Given the description of an element on the screen output the (x, y) to click on. 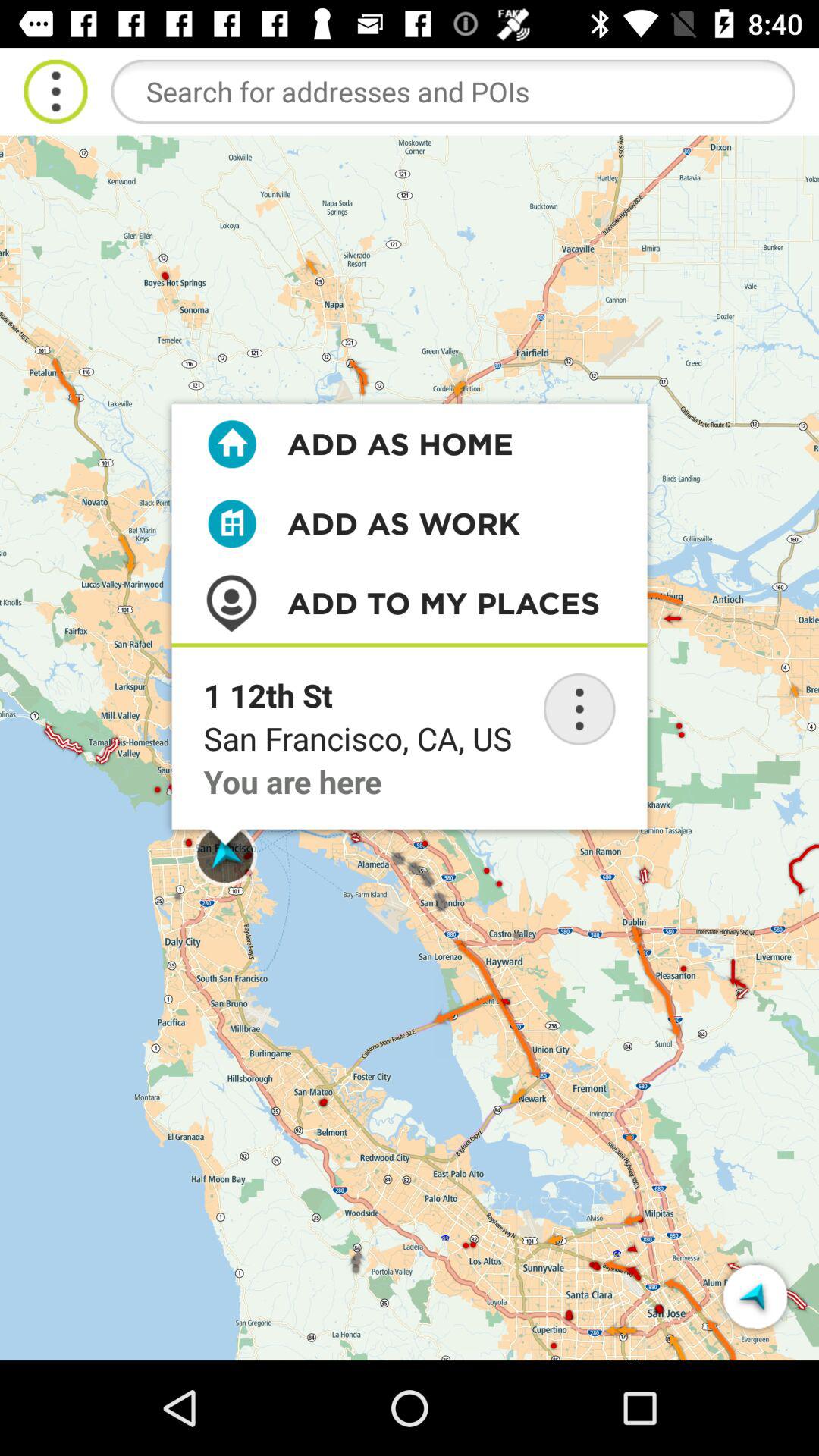
google map (453, 91)
